Given the description of an element on the screen output the (x, y) to click on. 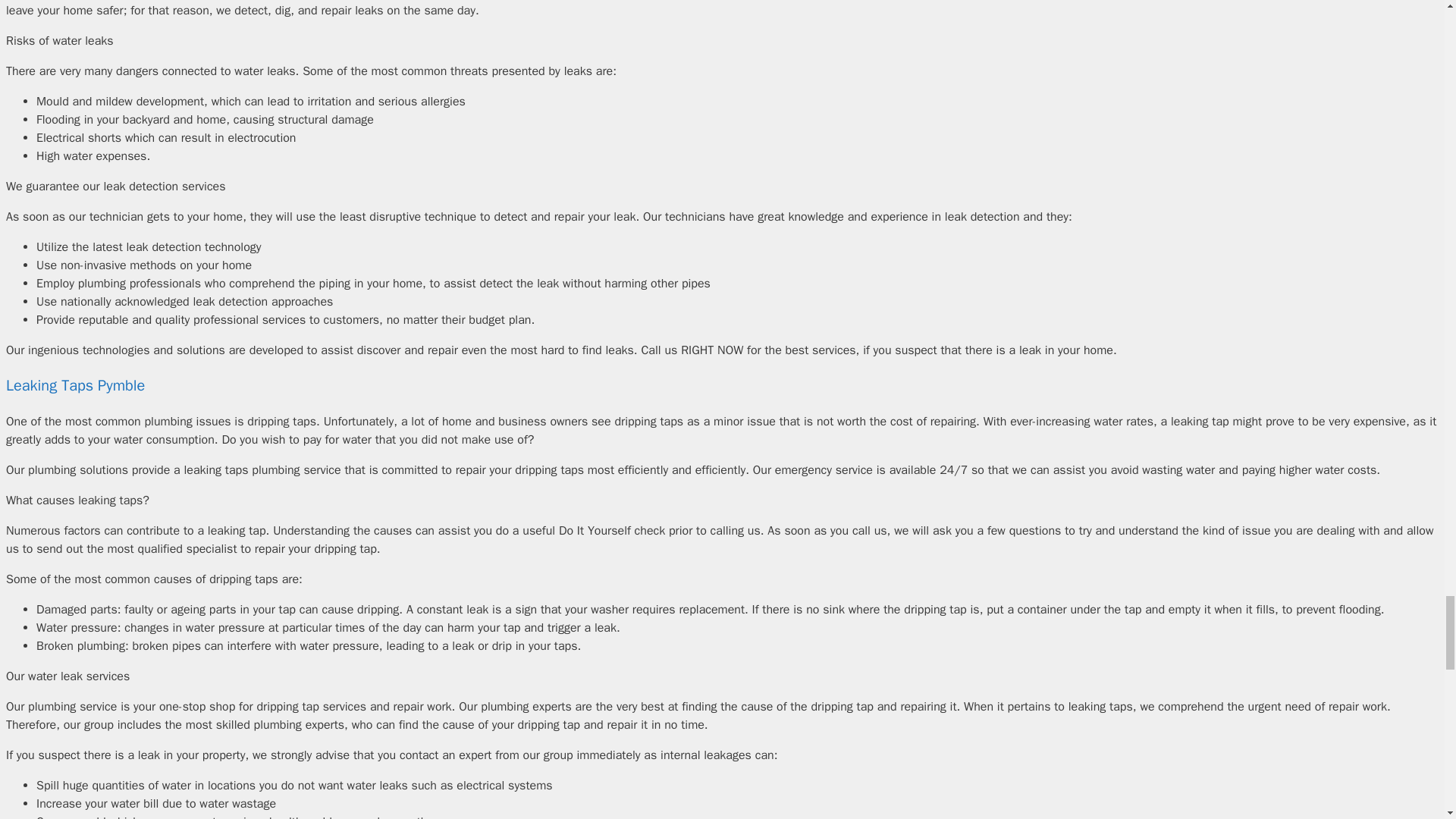
Leaking Taps Pymble (74, 384)
